Given the description of an element on the screen output the (x, y) to click on. 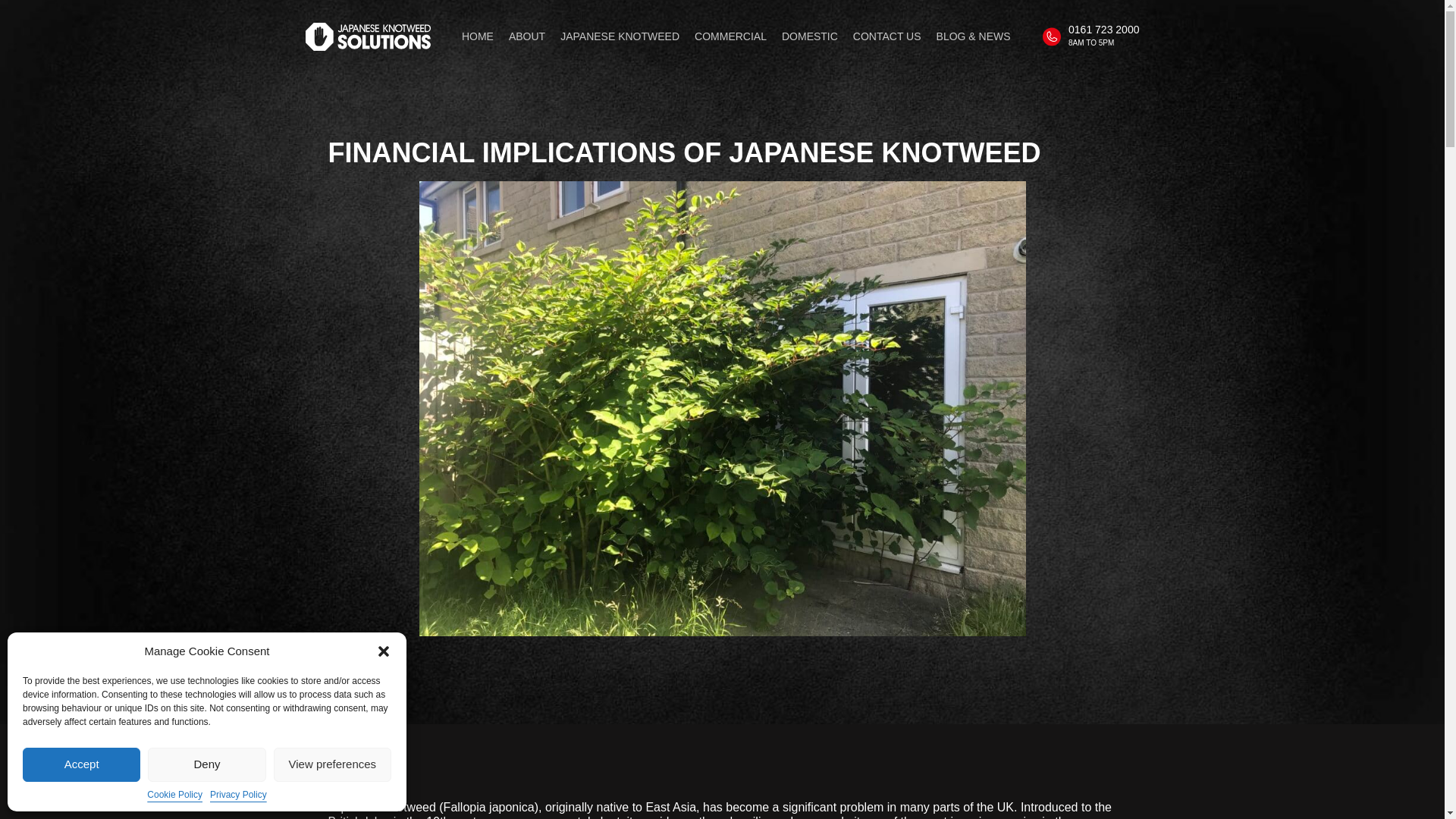
COMMERCIAL (730, 36)
Deny (206, 764)
ABOUT (526, 36)
HOME (477, 36)
View preferences (332, 764)
JAPANESE KNOTWEED (619, 36)
Privacy Policy (237, 794)
DOMESTIC (809, 36)
Cookie Policy (174, 794)
Accept (81, 764)
